Given the description of an element on the screen output the (x, y) to click on. 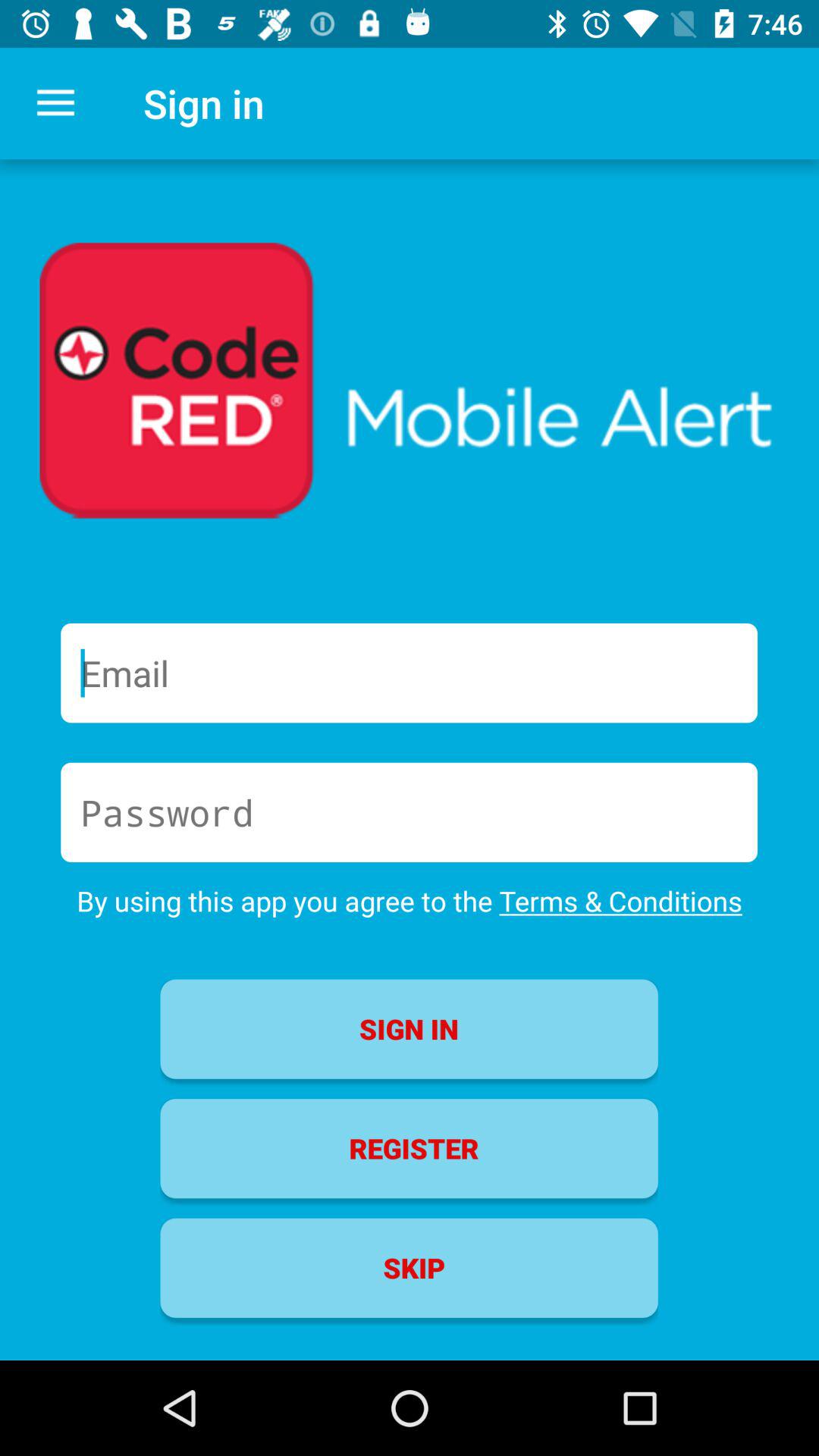
choose the item to the left of sign in (55, 103)
